Given the description of an element on the screen output the (x, y) to click on. 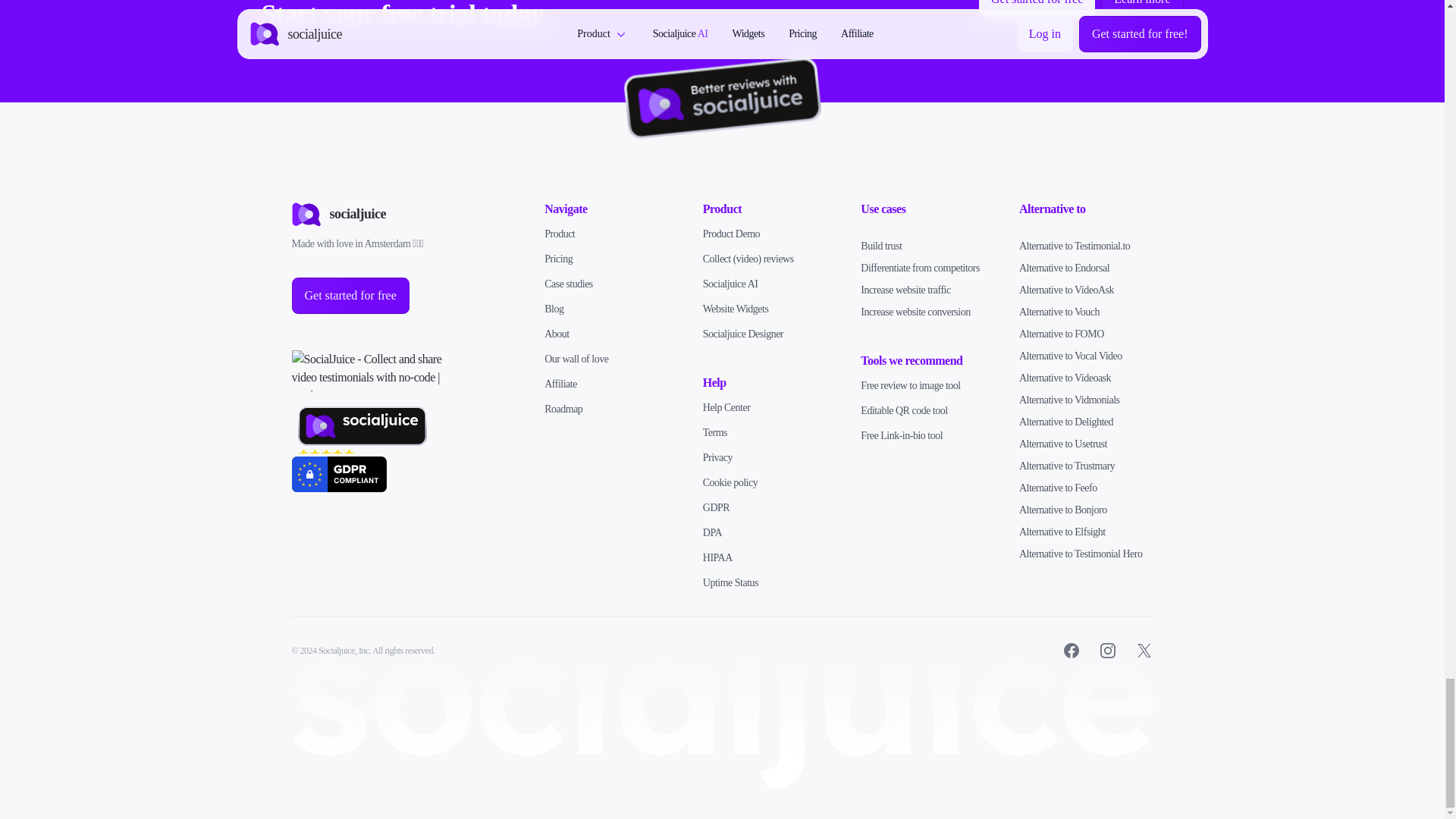
Case studies (568, 283)
Our wall of love (576, 357)
Affiliate (560, 383)
About (556, 333)
Pricing (558, 257)
Learn more (1141, 8)
Get started for free (1037, 4)
Product Demo (731, 233)
Get started for free (350, 294)
Product (559, 233)
Get started for free (1036, 8)
Learn more (1141, 4)
Get started for free (350, 294)
socialjuice (338, 213)
Blog (553, 307)
